Given the description of an element on the screen output the (x, y) to click on. 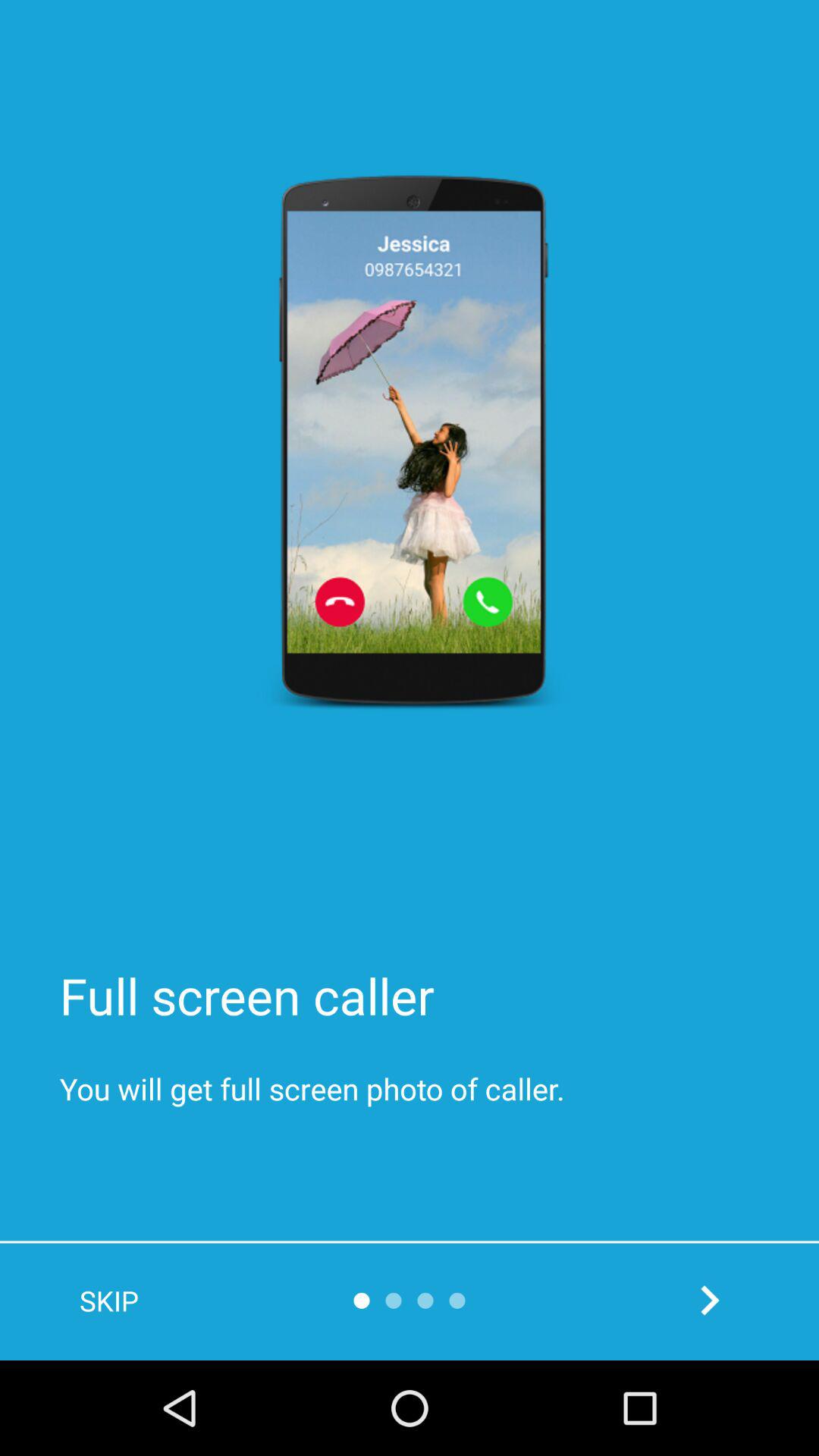
next (709, 1300)
